Given the description of an element on the screen output the (x, y) to click on. 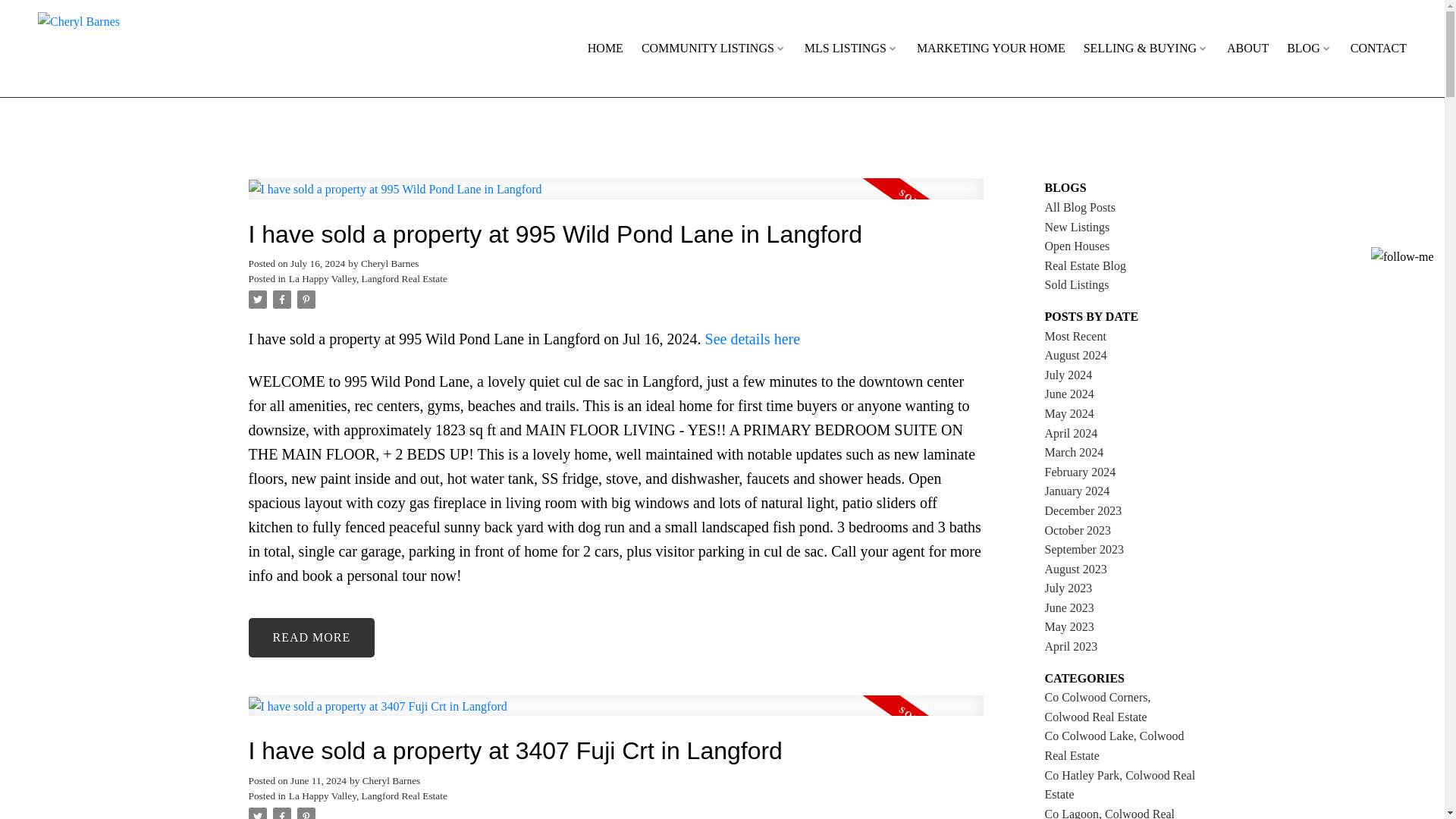
BLOG (1309, 48)
MARKETING YOUR HOME (991, 48)
Read full post (616, 197)
Read full post (616, 714)
HOME (605, 48)
MLS LISTINGS (851, 48)
CONTACT (1378, 48)
ABOUT (1247, 48)
COMMUNITY LISTINGS (714, 48)
